Given the description of an element on the screen output the (x, y) to click on. 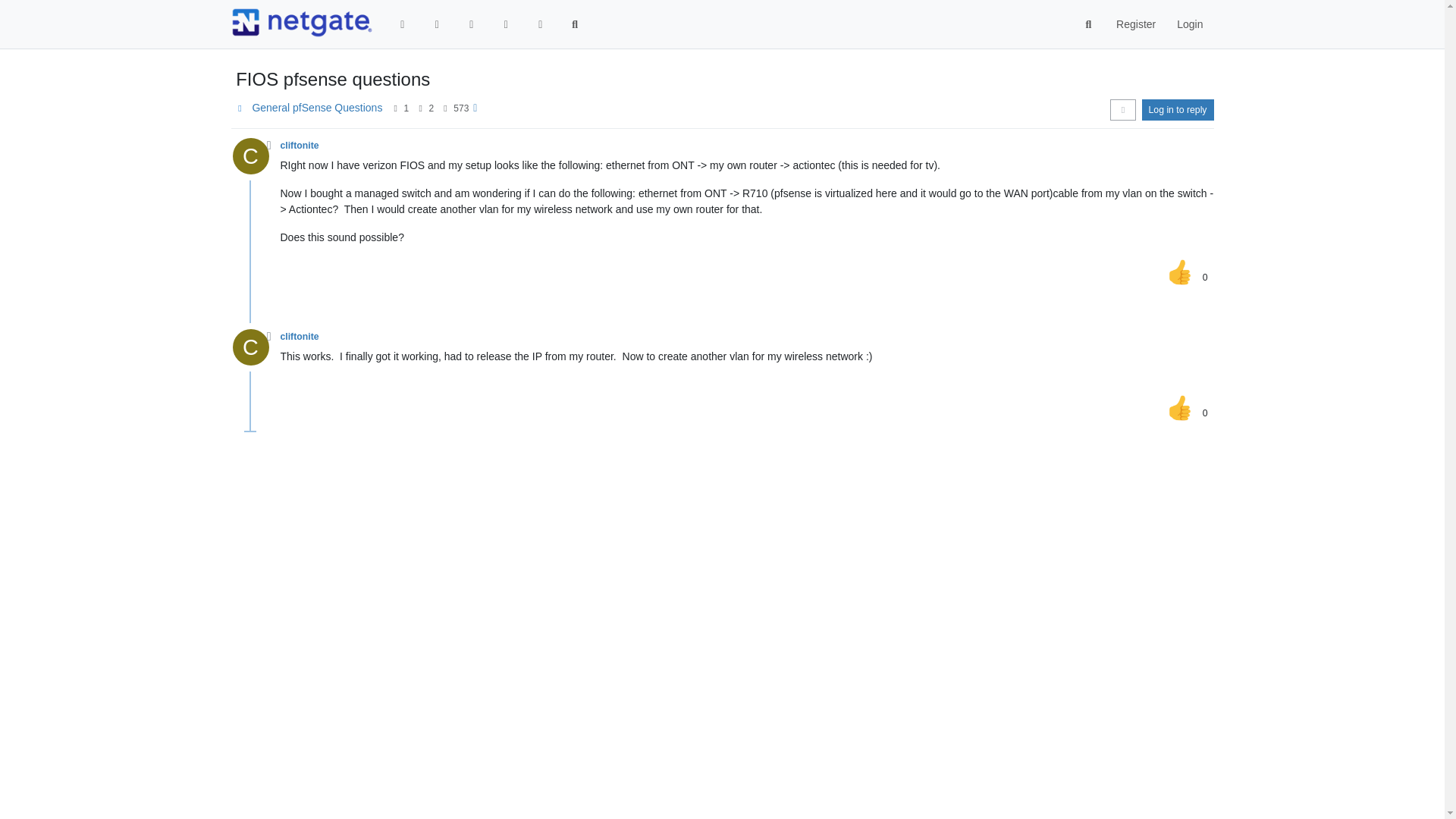
Users (539, 24)
Popular (504, 24)
Log in to reply (1177, 109)
Register (1135, 24)
Recent (437, 24)
C (255, 159)
Search (1088, 24)
Search (574, 24)
General pfSense Questions (316, 107)
Categories (402, 24)
Tags (471, 24)
Login (1189, 24)
cliftonite (299, 145)
